Given the description of an element on the screen output the (x, y) to click on. 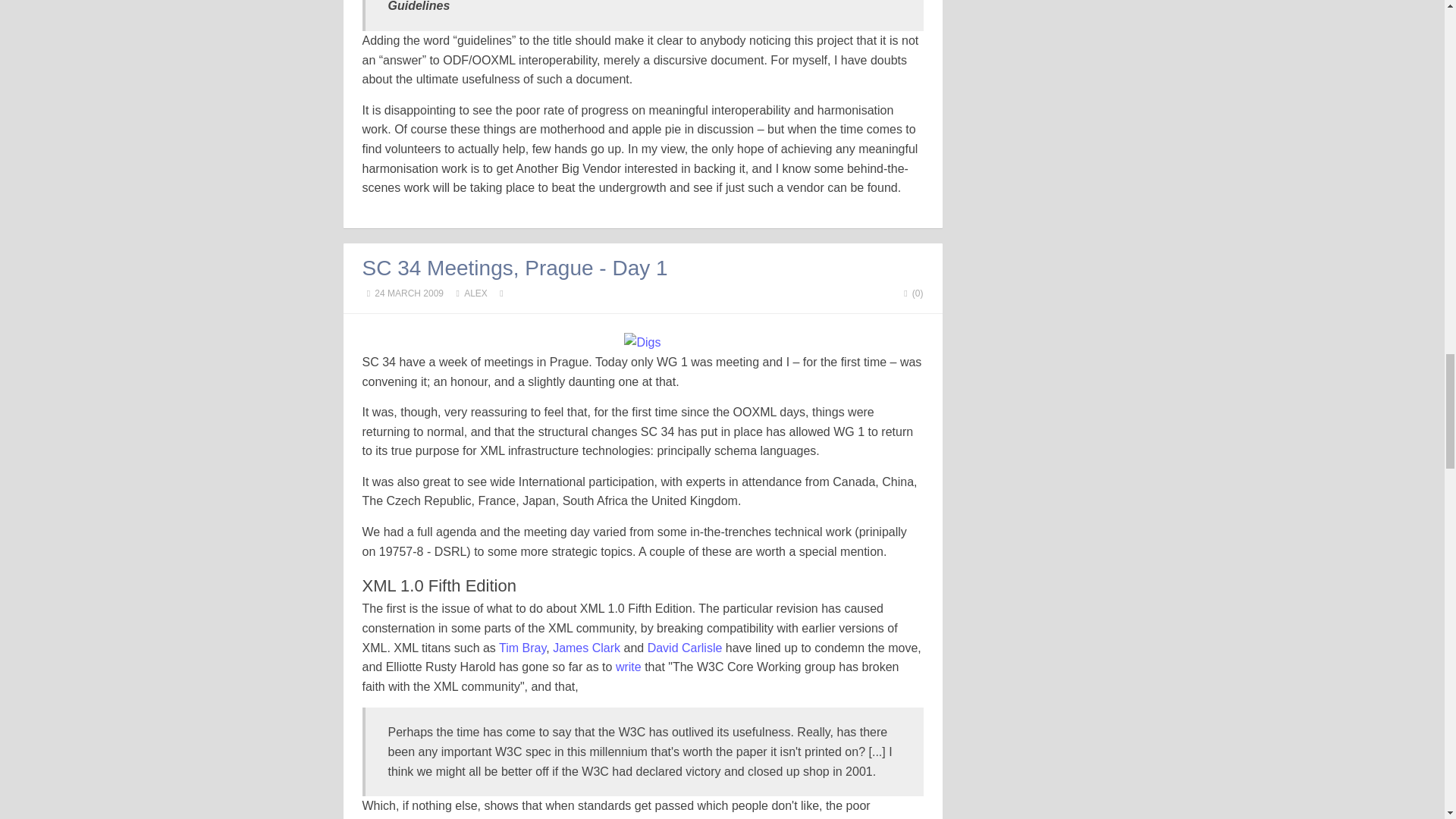
ALEX (475, 293)
write (628, 666)
SC 34 Meetings, Prague - Day 1 (515, 268)
James Clark (586, 647)
Digs by alexbrn, on Flickr (642, 341)
David Carlisle (684, 647)
Tim Bray (522, 647)
